Given the description of an element on the screen output the (x, y) to click on. 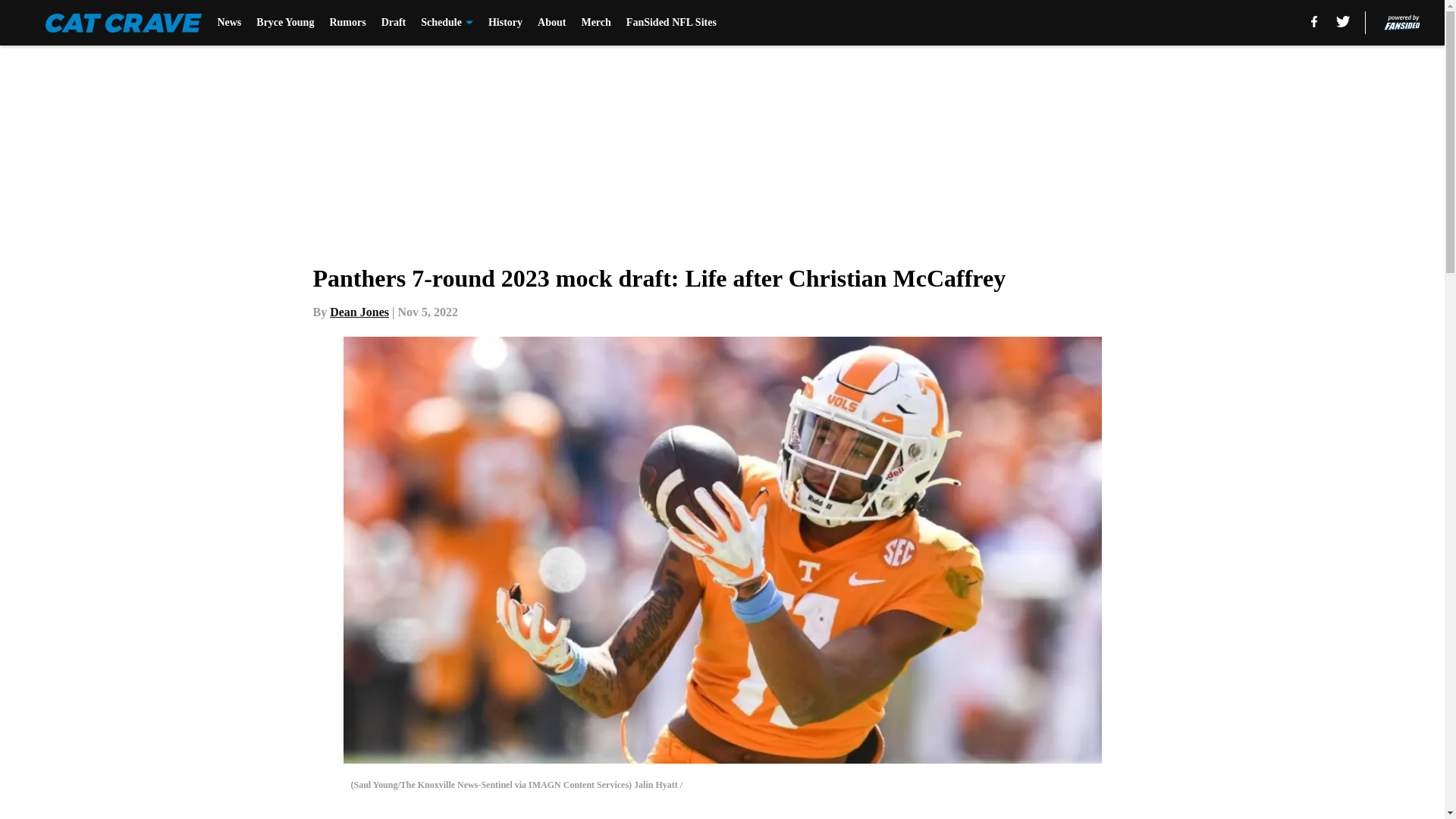
Dean Jones (359, 311)
Draft (393, 22)
FanSided NFL Sites (671, 22)
Bryce Young (285, 22)
Rumors (347, 22)
History (504, 22)
Merch (595, 22)
About (551, 22)
News (228, 22)
